Given the description of an element on the screen output the (x, y) to click on. 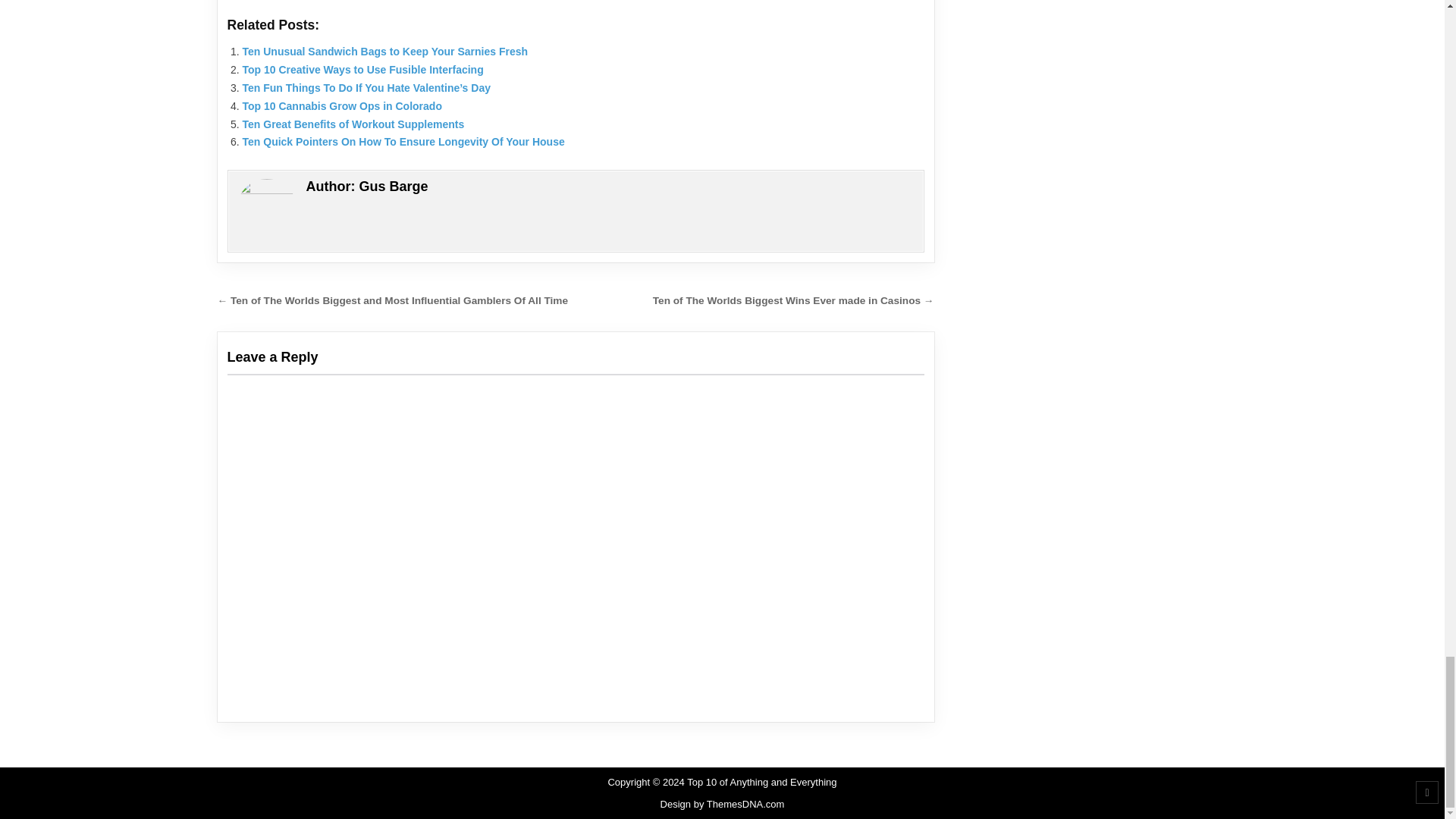
Ten Great Benefits of Workout Supplements (353, 123)
Top 10 Creative Ways to Use Fusible Interfacing (363, 69)
Ten Great Benefits of Workout Supplements (353, 123)
Top 10 Cannabis Grow Ops in Colorado (342, 105)
Ten Unusual Sandwich Bags to Keep Your Sarnies Fresh (385, 51)
Ten Unusual Sandwich Bags to Keep Your Sarnies Fresh (385, 51)
Top 10 Creative Ways to Use Fusible Interfacing (363, 69)
Ten Quick Pointers On How To Ensure Longevity Of Your House (403, 141)
Top 10 Cannabis Grow Ops in Colorado (342, 105)
